Given the description of an element on the screen output the (x, y) to click on. 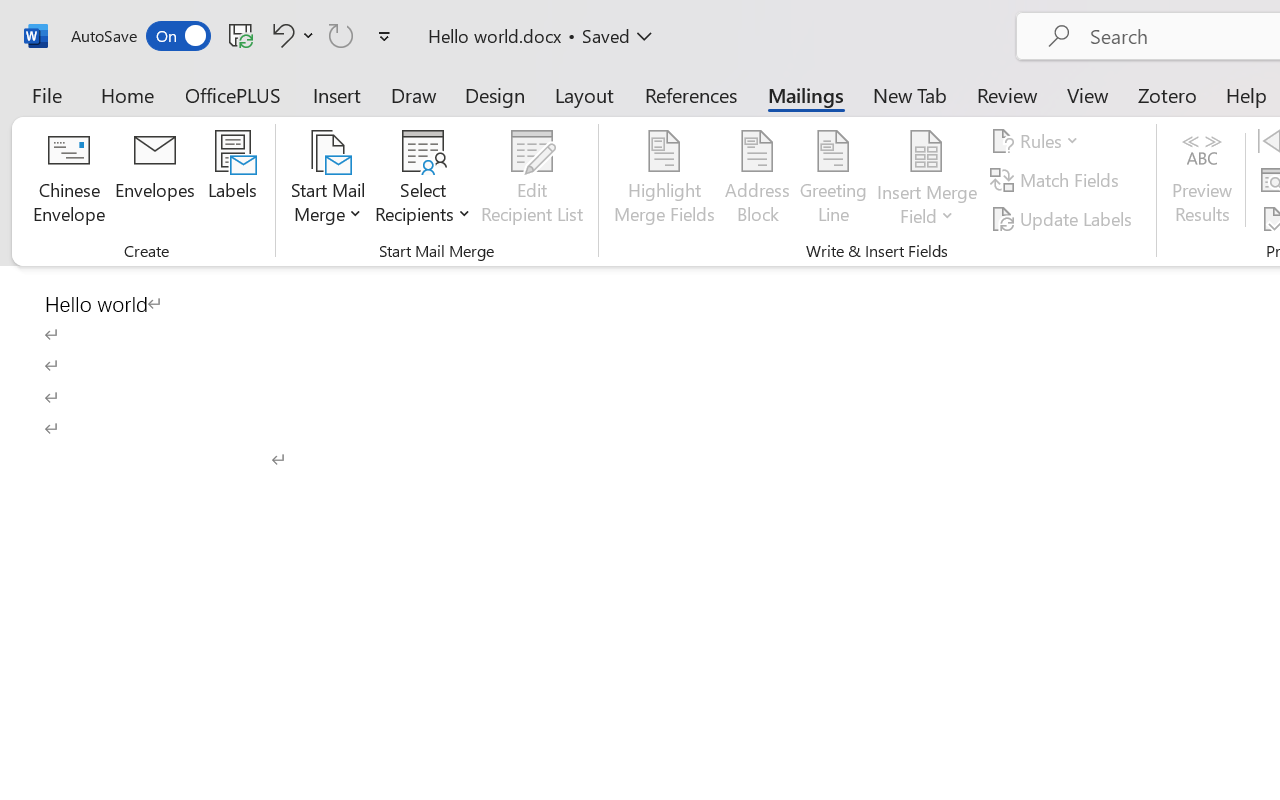
Save (241, 35)
File Tab (46, 94)
Start Mail Merge (328, 179)
Envelopes... (155, 179)
Draw (413, 94)
Match Fields... (1057, 179)
Select Recipients (423, 179)
Preview Results (1202, 179)
